Given the description of an element on the screen output the (x, y) to click on. 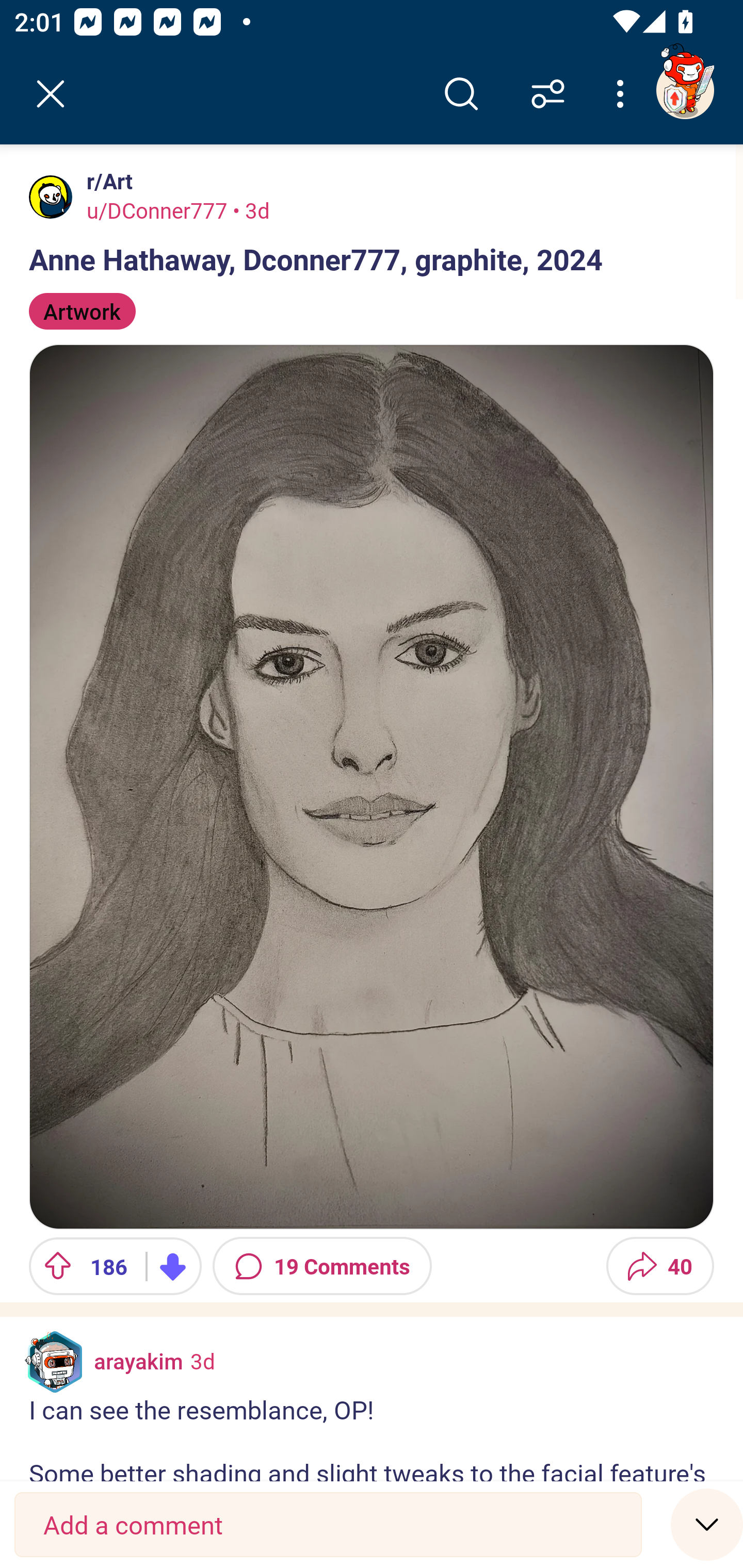
Back (50, 93)
TestAppium002 account (685, 90)
Search comments (460, 93)
Sort comments (547, 93)
More options (623, 93)
r/Art (106, 181)
Avatar (50, 196)
u/DConner777 (156, 210)
Artwork (81, 311)
Image (371, 786)
Upvote 186 (79, 1266)
19 Comments (321, 1266)
Share 40 (660, 1266)
3d (202, 1360)
Speed read (706, 1524)
Add a comment (327, 1524)
